Given the description of an element on the screen output the (x, y) to click on. 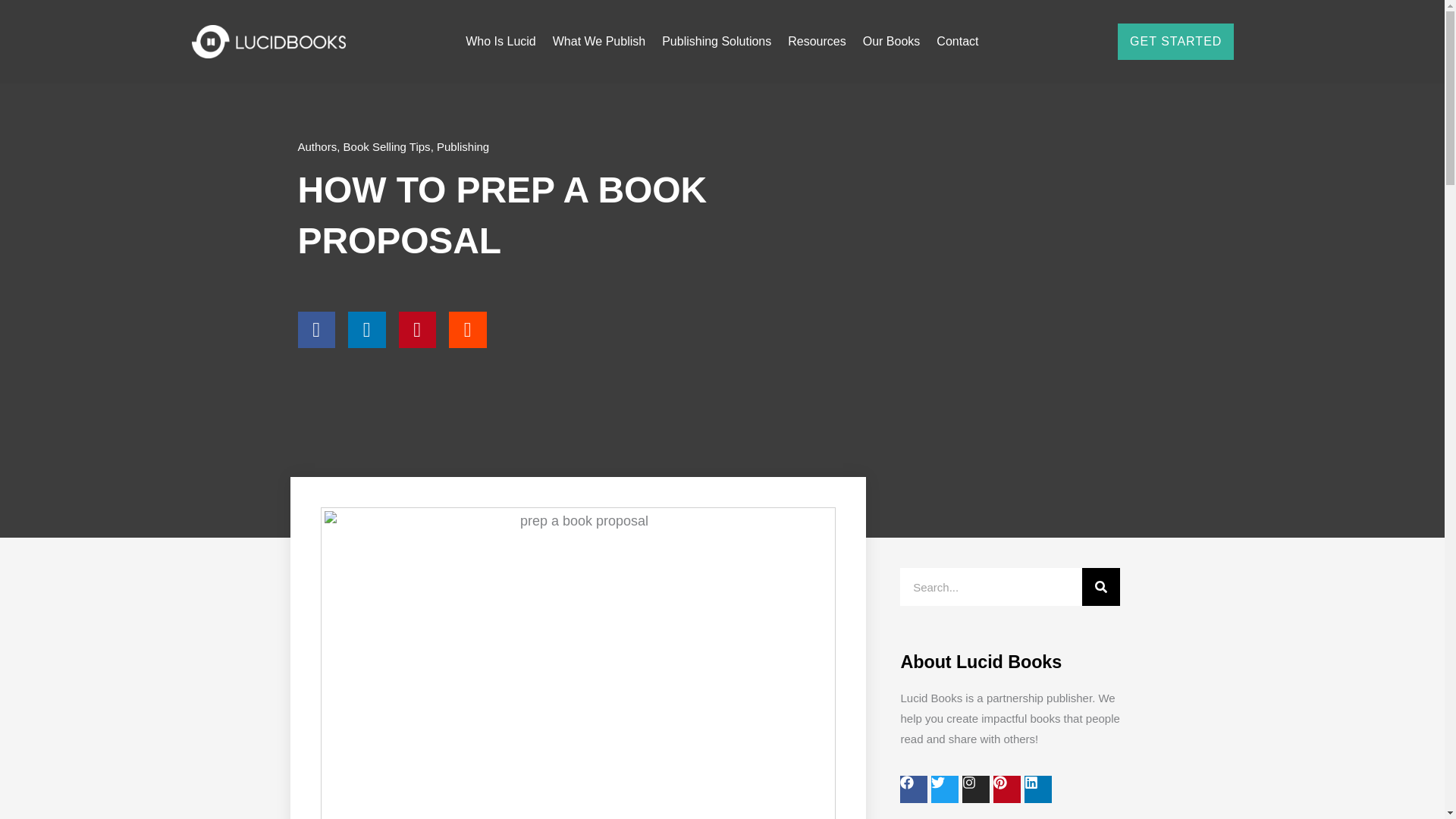
Publishing Solutions (715, 41)
What We Publish (598, 41)
Contact (957, 41)
Resources (815, 41)
Our Books (891, 41)
Who Is Lucid (500, 41)
